Given the description of an element on the screen output the (x, y) to click on. 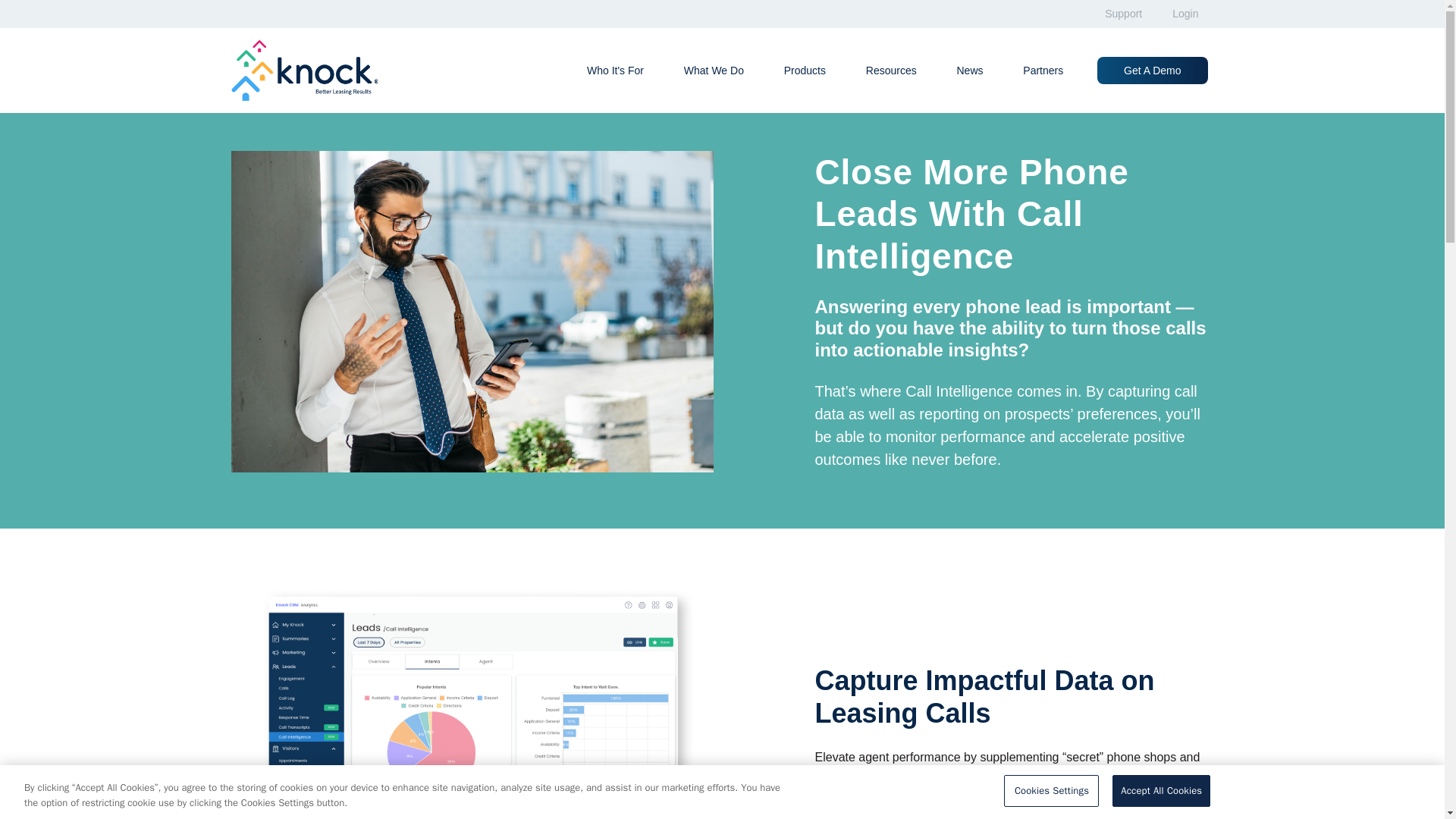
Who It's For (614, 70)
What We Do (714, 70)
What We Do (714, 70)
News (969, 70)
Login (1185, 13)
Who It'S For (614, 70)
Products (804, 70)
Knock (311, 69)
Support (1123, 13)
Support (1123, 13)
Login (1185, 13)
Resources (891, 70)
Partners (1042, 70)
